Given the description of an element on the screen output the (x, y) to click on. 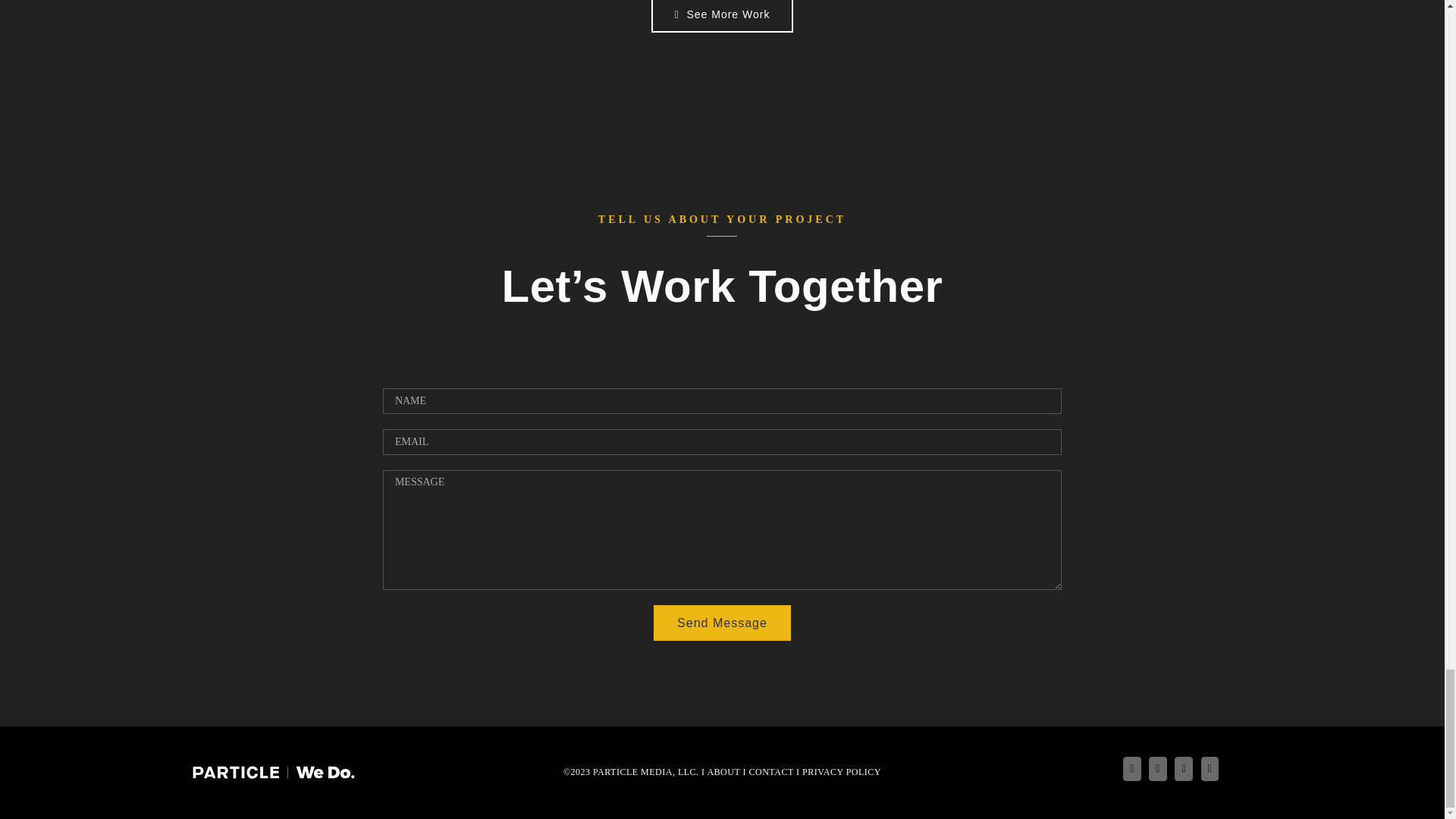
Send Message (721, 622)
CONTACT (771, 771)
PRIVACY POLICY (841, 771)
Send Message (721, 622)
See More Work (721, 16)
ABOUT (722, 771)
